Given the description of an element on the screen output the (x, y) to click on. 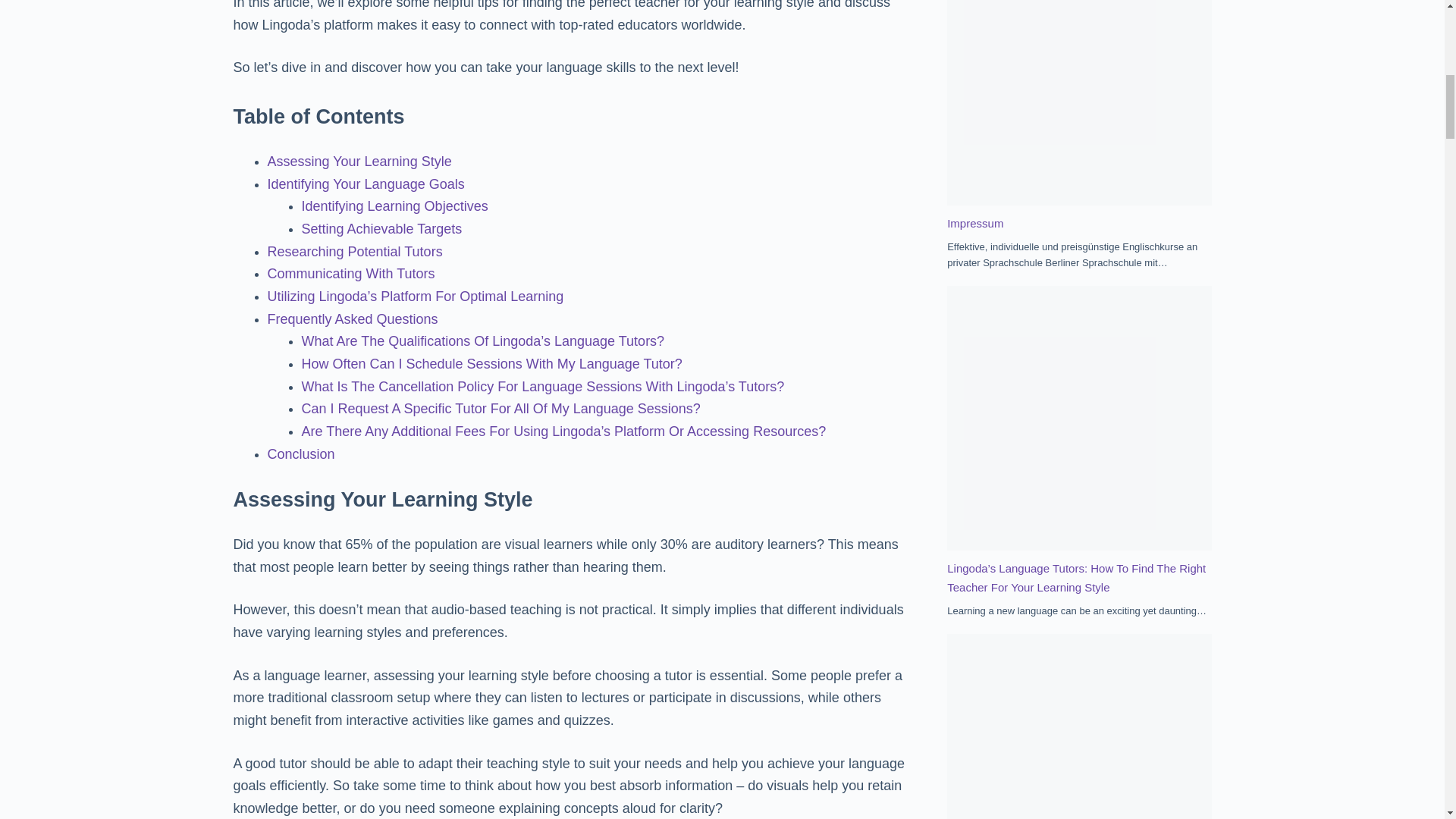
Communicating With Tutors (349, 273)
How Often Can I Schedule Sessions With My Language Tutor? (491, 363)
Conclusion (300, 453)
Assessing Your Learning Style (358, 160)
Identifying Your Language Goals (365, 183)
Researching Potential Tutors (354, 251)
Impressum (975, 223)
Identifying Learning Objectives (394, 206)
Frequently Asked Questions (352, 319)
Setting Achievable Targets (382, 228)
